Given the description of an element on the screen output the (x, y) to click on. 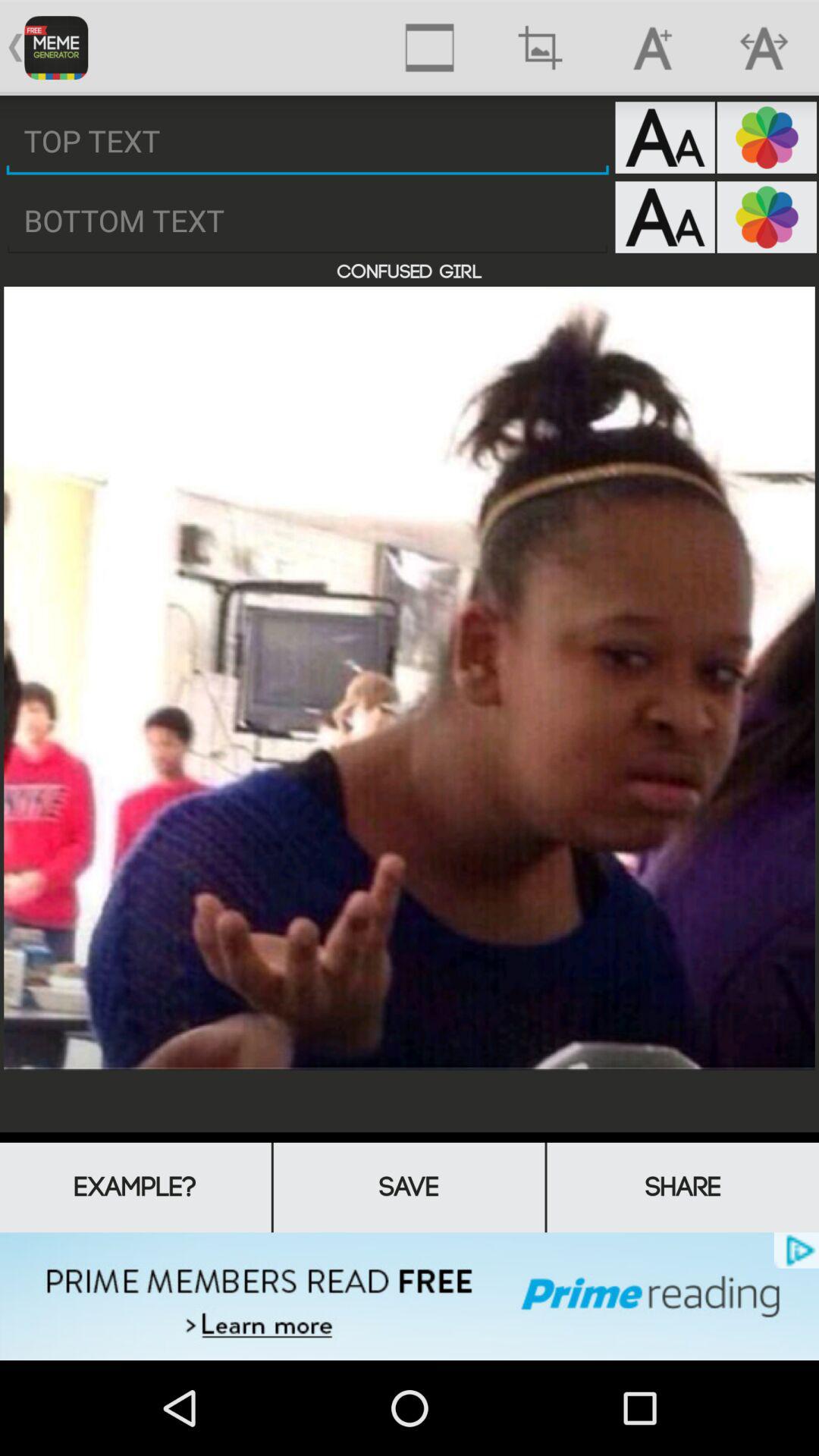
to write (307, 221)
